Given the description of an element on the screen output the (x, y) to click on. 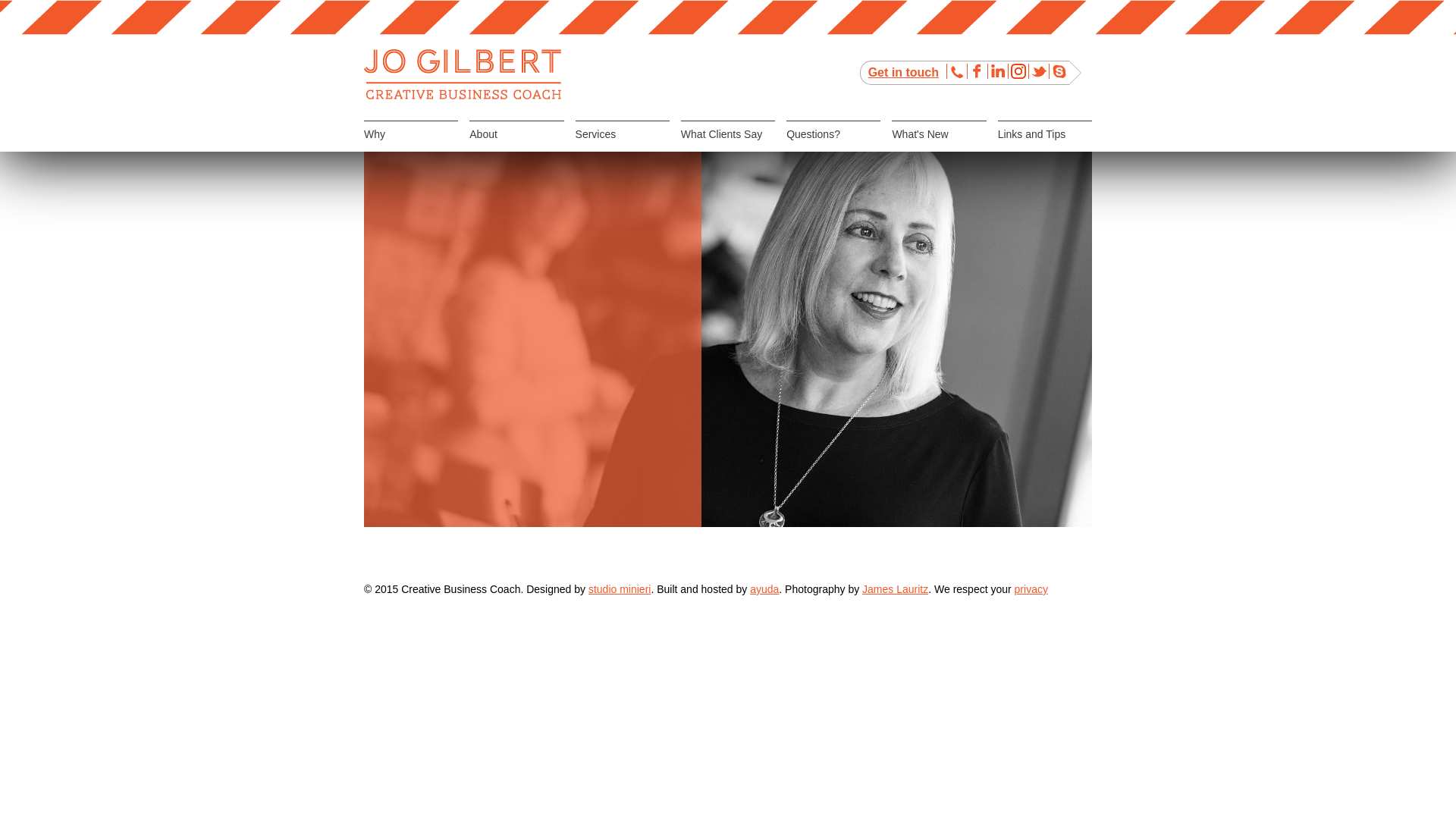
Questions? Element type: text (833, 147)
What Clients Say Element type: text (727, 147)
What's New Element type: text (938, 147)
ayuda Element type: text (763, 589)
About Element type: text (516, 147)
privacy Element type: text (1031, 589)
studio minieri Element type: text (619, 589)
Services Element type: text (622, 147)
James Lauritz Element type: text (895, 589)
Why Element type: text (411, 147)
Get in touch Element type: text (903, 71)
Links and Tips Element type: text (1044, 147)
